Given the description of an element on the screen output the (x, y) to click on. 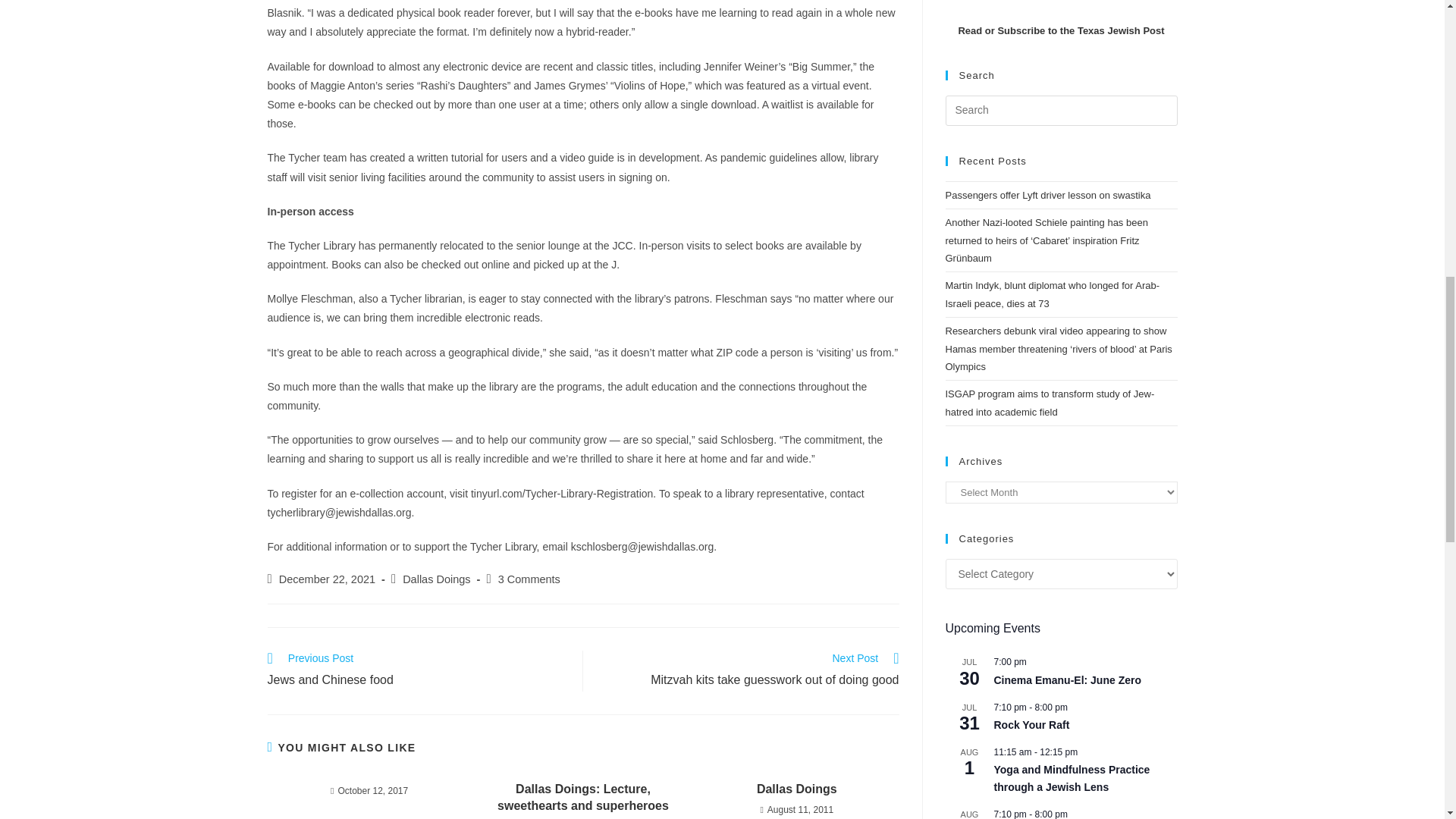
Rock Your Raft (1030, 725)
Cinema Emanu-El: June Zero (1066, 680)
Read or Subscribe to the Texas Jewish Post e-Edition (1060, 30)
Yoga and Mindfulness Practice through a Jewish Lens (1071, 778)
